Given the description of an element on the screen output the (x, y) to click on. 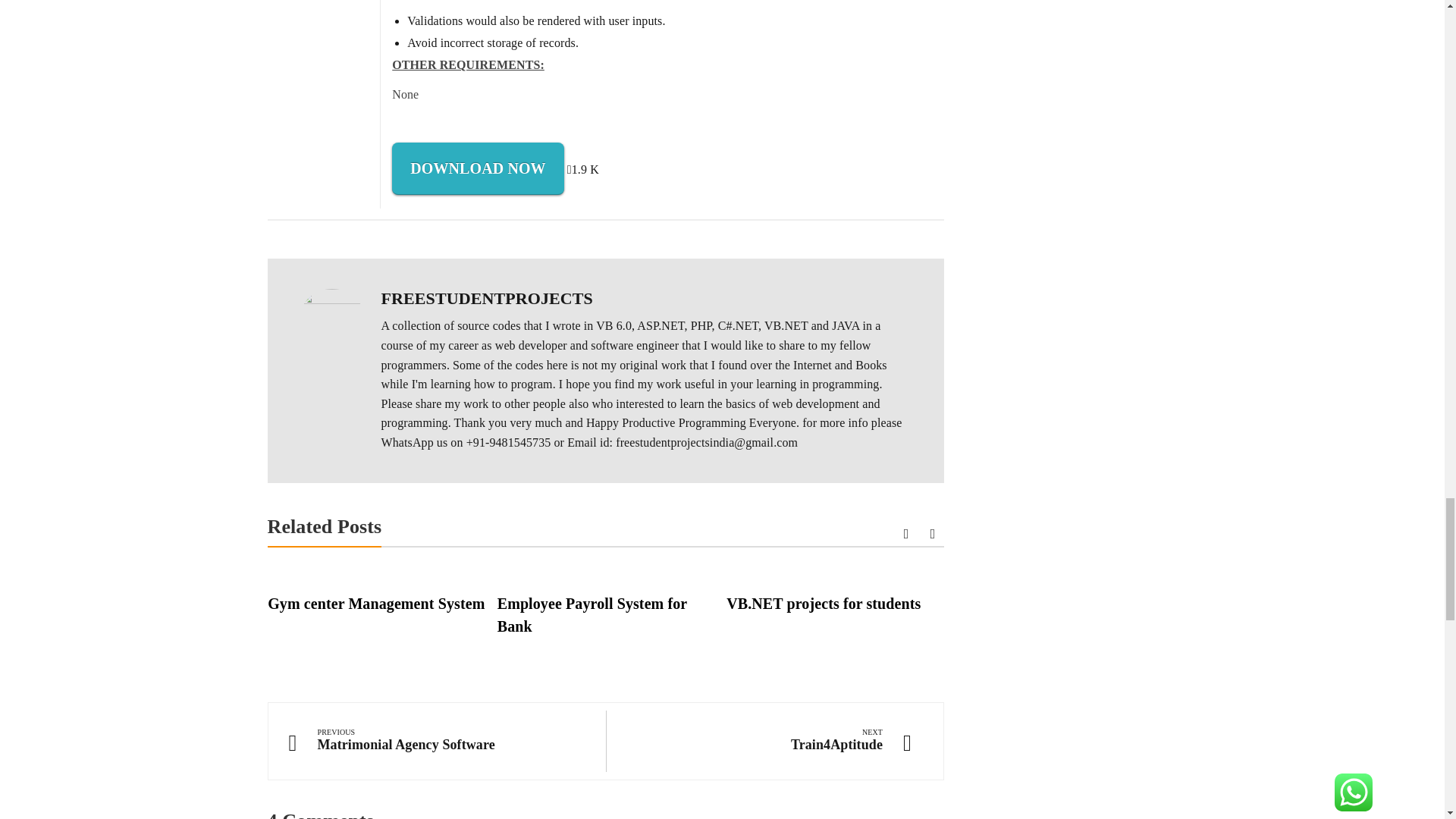
Visit Site (477, 168)
FREESTUDENTPROJECTS (486, 298)
DOWNLOAD NOW (477, 168)
